Given the description of an element on the screen output the (x, y) to click on. 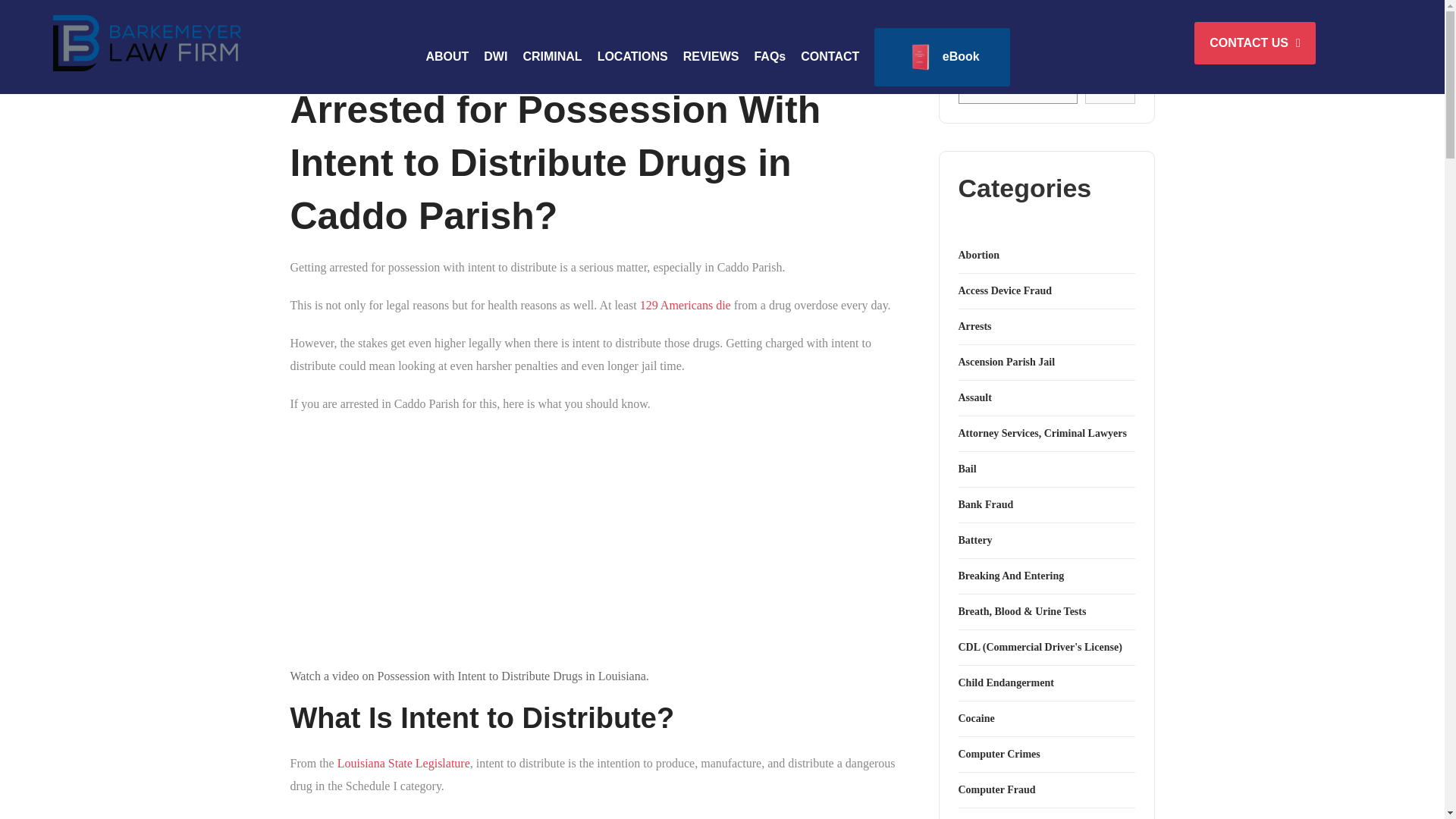
Possession With Intent to Distribute in Louisiana (488, 542)
CONTACT US (1254, 43)
CRIMINAL (552, 56)
BY: CARL BARKEMEYER (359, 53)
ABOUT (446, 56)
REVIEWS (710, 56)
eBook (941, 56)
CONTACT (829, 56)
LOCATIONS (632, 56)
